Given the description of an element on the screen output the (x, y) to click on. 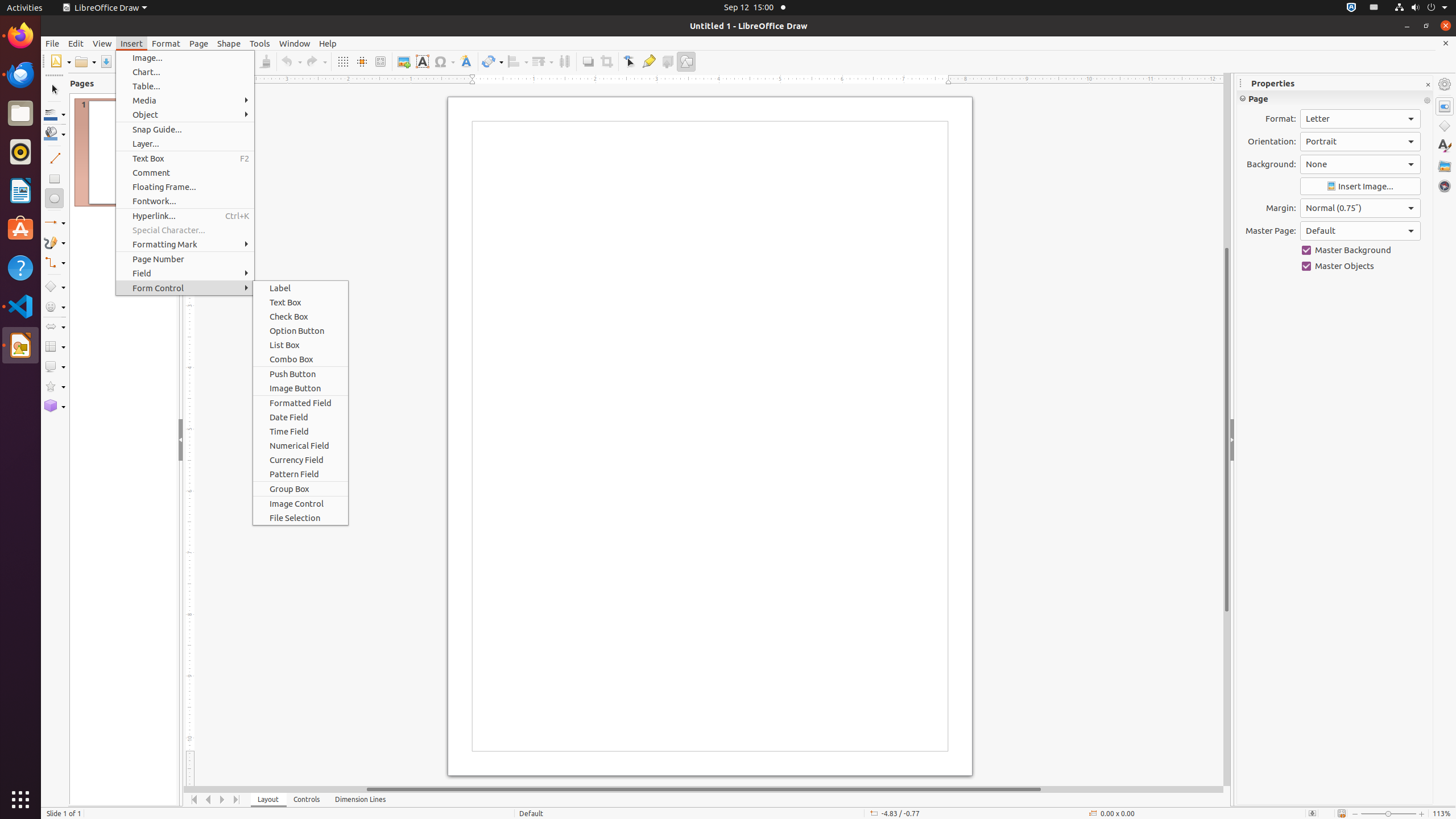
Edit Element type: menu (75, 43)
Media Element type: menu (185, 100)
Window Element type: menu (294, 43)
Visual Studio Code Element type: push-button (20, 306)
Field Element type: menu (185, 273)
